Given the description of an element on the screen output the (x, y) to click on. 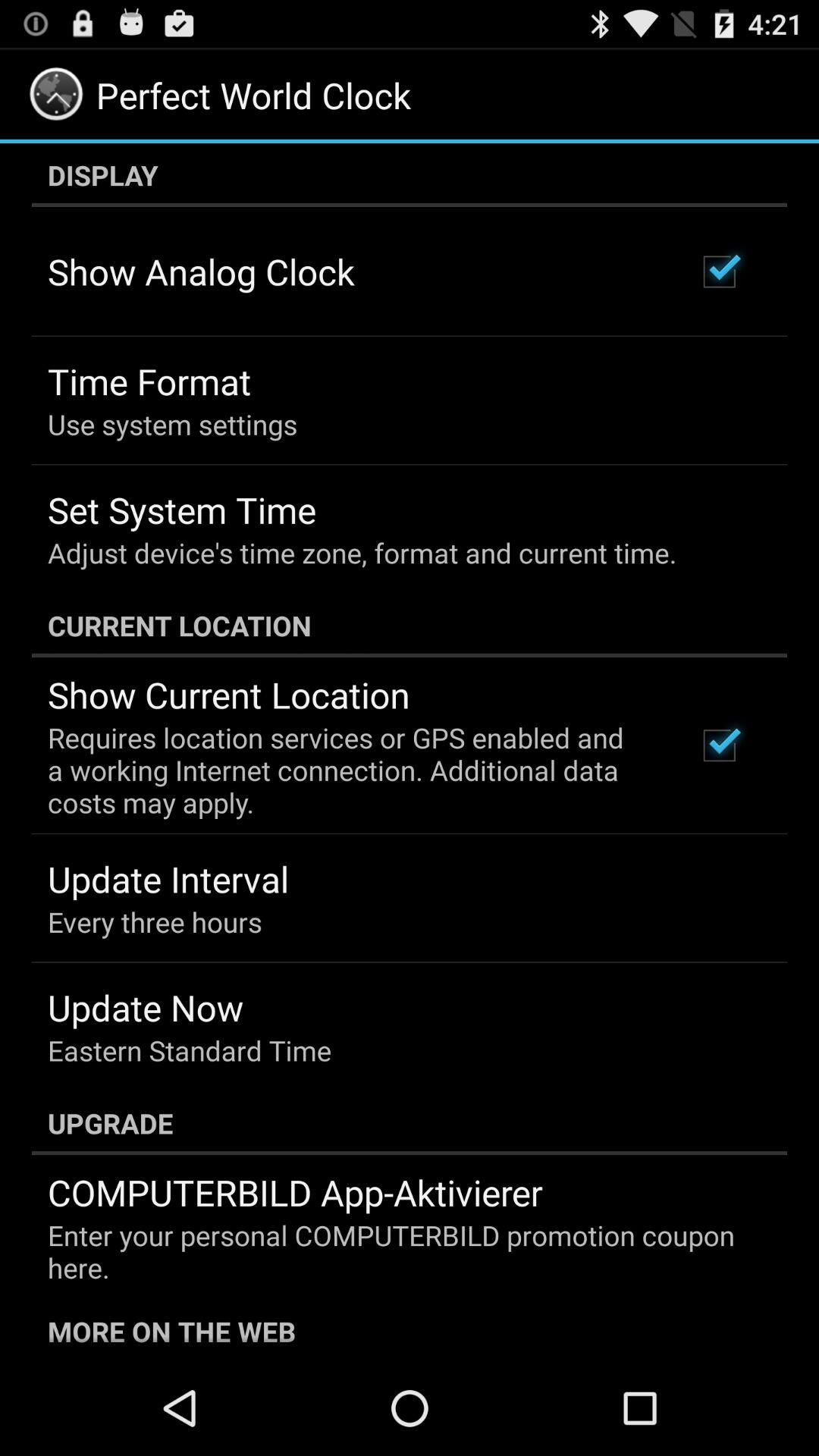
swipe to requires location services app (351, 769)
